Given the description of an element on the screen output the (x, y) to click on. 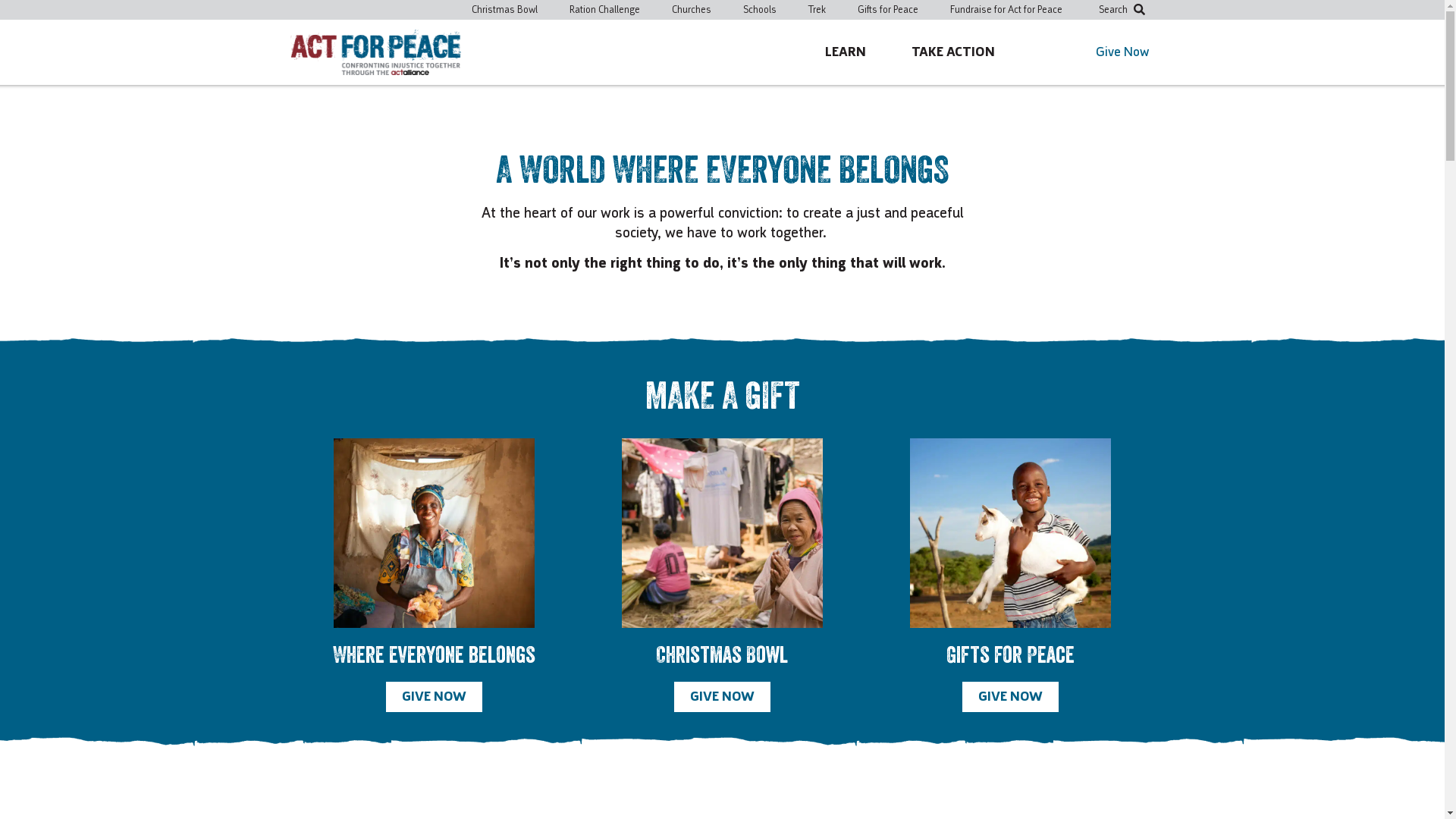
Give Now Element type: text (1121, 52)
Schools Element type: text (759, 9)
TAKE ACTION Element type: text (952, 51)
Fundraise for Act for Peace Element type: text (1005, 9)
Give Monthly Element type: text (1321, 145)
LEARN Element type: text (845, 51)
GIVE NOW Element type: text (433, 696)
Give Once Element type: text (1173, 145)
Search Element type: text (1121, 9)
Christmas Bowl Element type: text (504, 9)
Churches Element type: text (691, 9)
GIVE NOW Element type: text (722, 696)
GIVE NOW Element type: text (1010, 696)
Gifts for Peace Element type: text (886, 9)
Ration Challenge Element type: text (603, 9)
Trek Element type: text (816, 9)
